Given the description of an element on the screen output the (x, y) to click on. 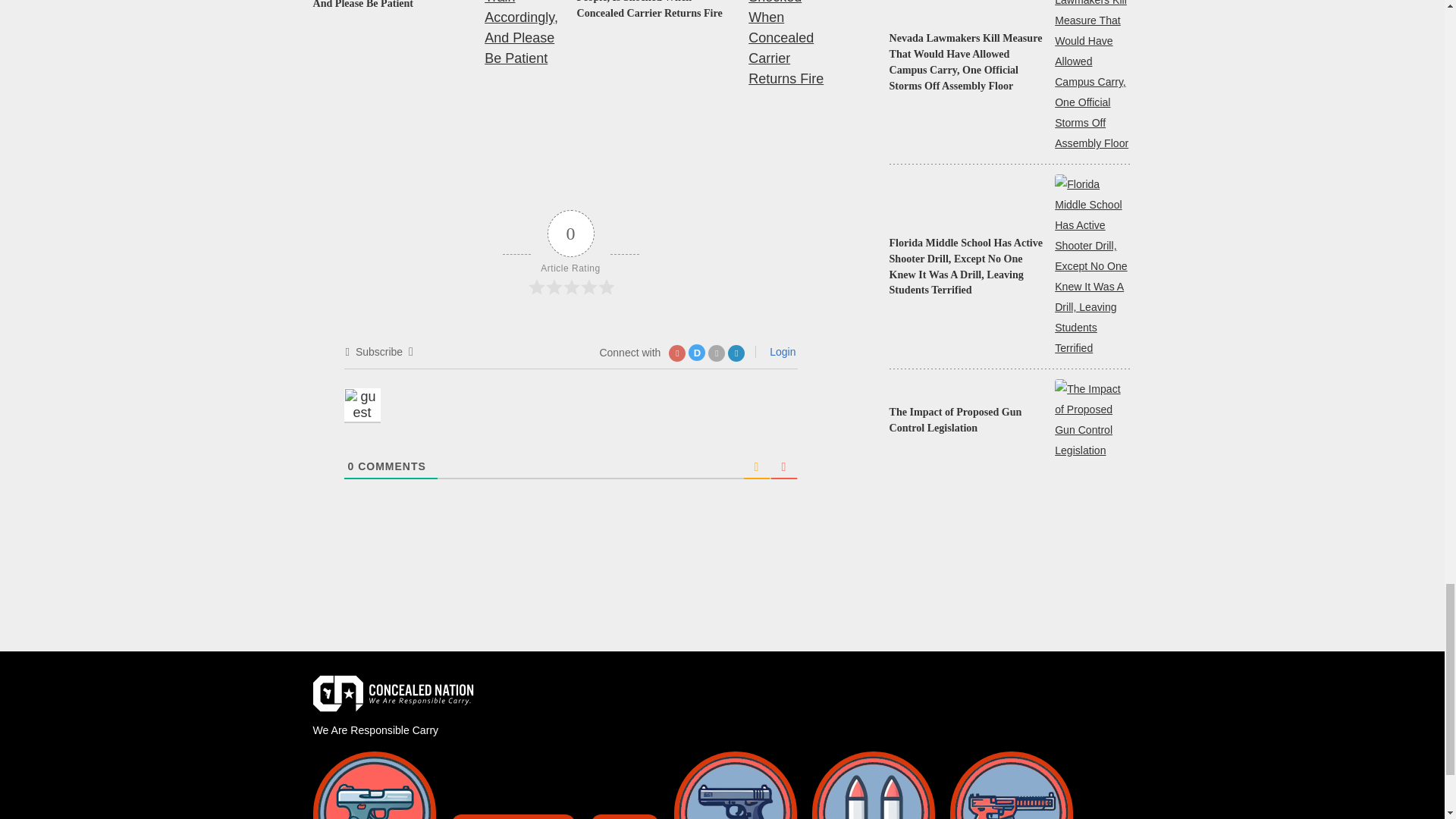
Login (779, 351)
